Given the description of an element on the screen output the (x, y) to click on. 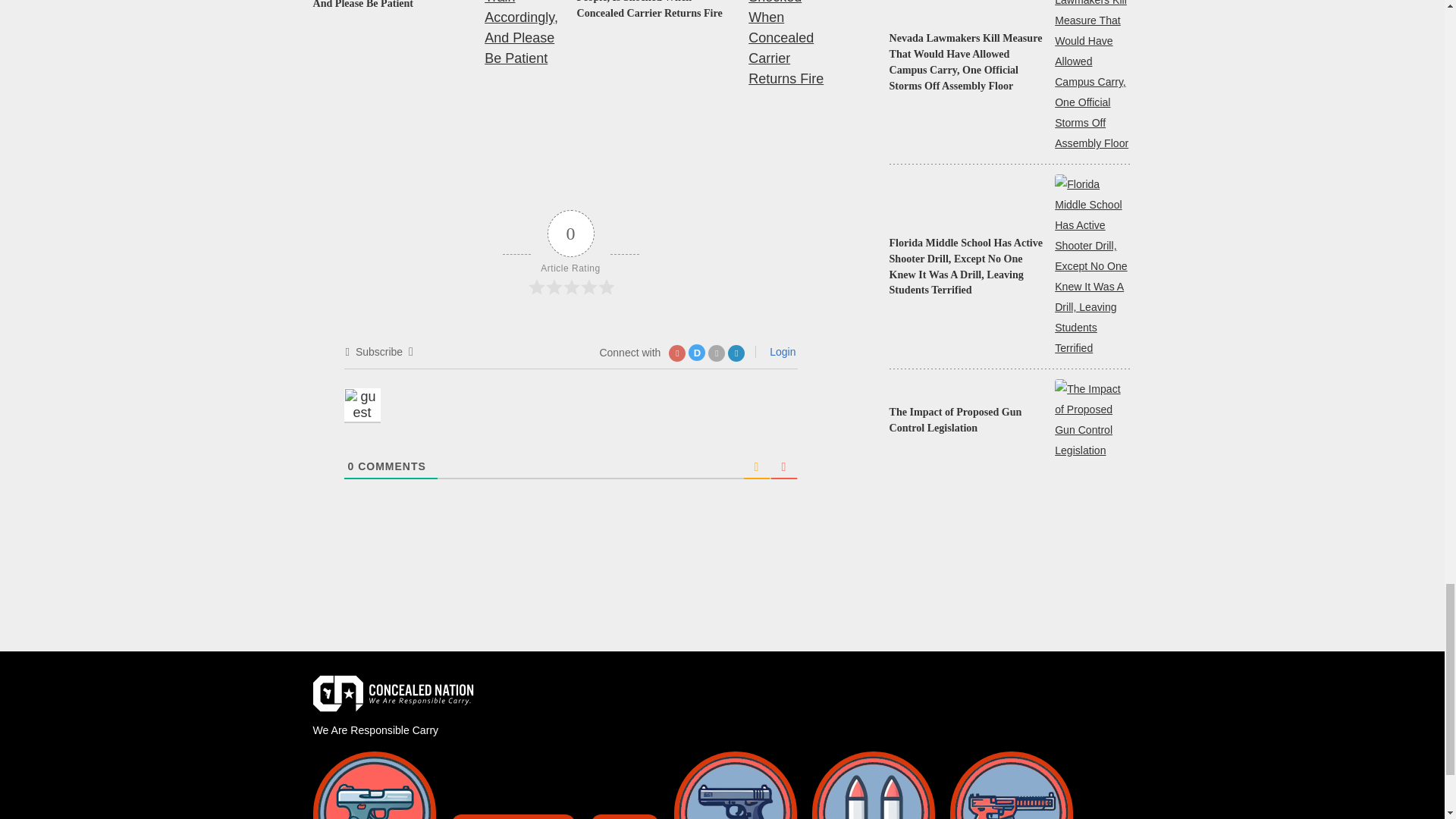
Login (779, 351)
